Given the description of an element on the screen output the (x, y) to click on. 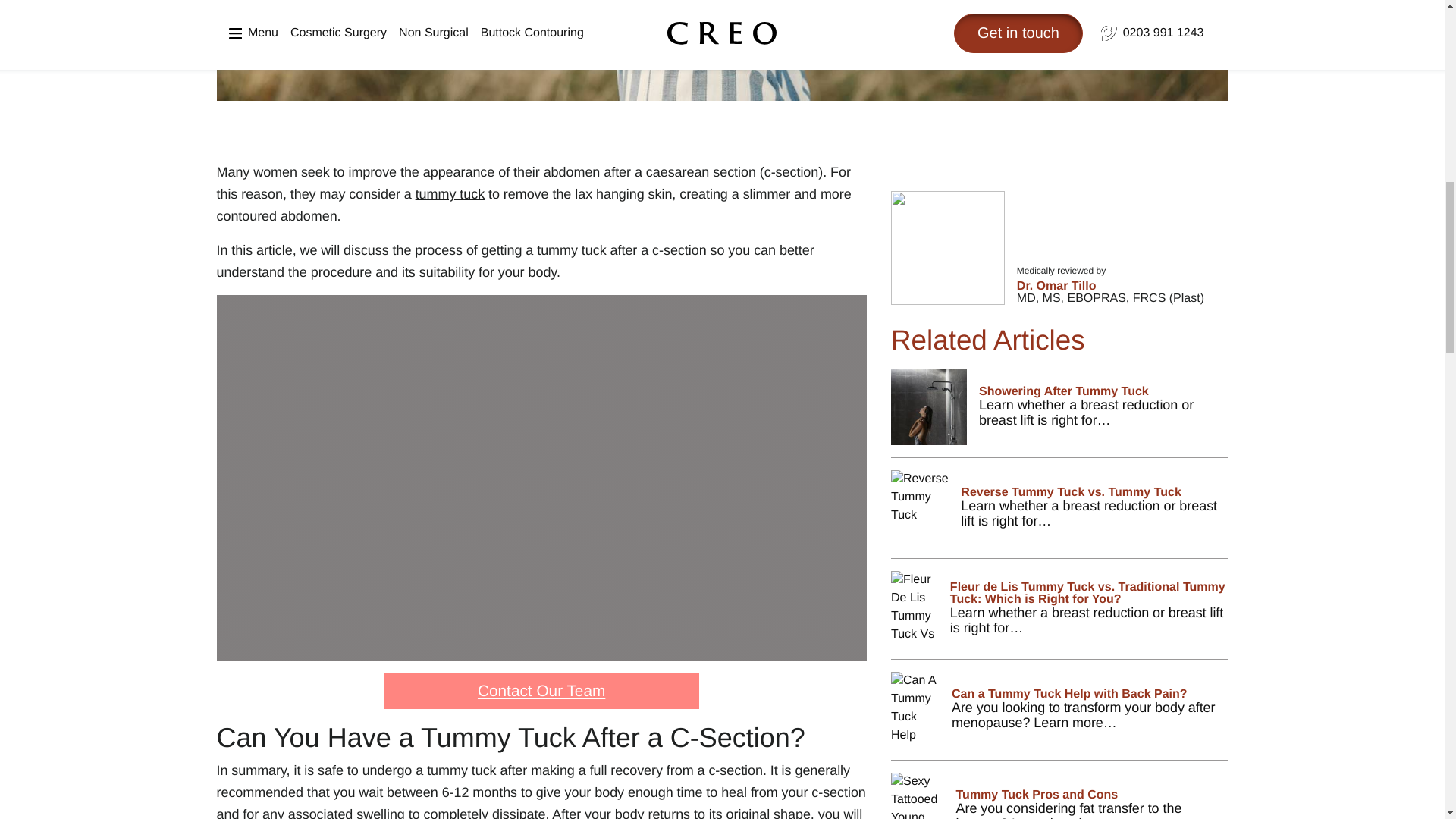
Can a Tummy Tuck Help with Back Pain? (1059, 715)
Tummy Tuck Pros and Cons (1059, 796)
Reverse Tummy Tuck vs. Tummy Tuck (1059, 514)
Showering After Tummy Tuck (1059, 413)
